Given the description of an element on the screen output the (x, y) to click on. 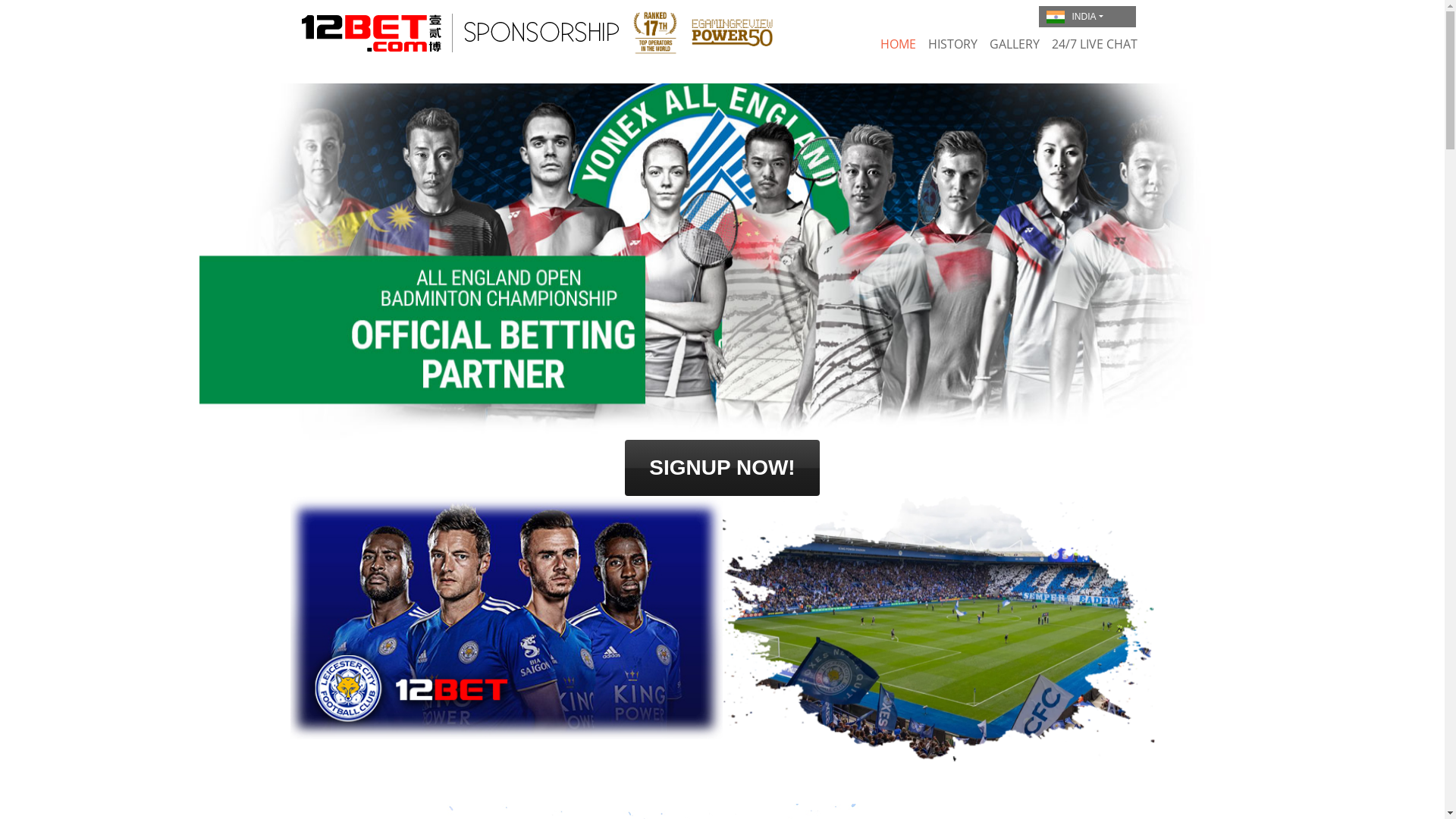
INDIA Element type: text (1086, 16)
HOME Element type: text (897, 43)
SIGNUP NOW! Element type: text (721, 467)
24/7 LIVE CHAT Element type: text (1093, 43)
HISTORY Element type: text (952, 43)
GALLERY Element type: text (1013, 43)
